Given the description of an element on the screen output the (x, y) to click on. 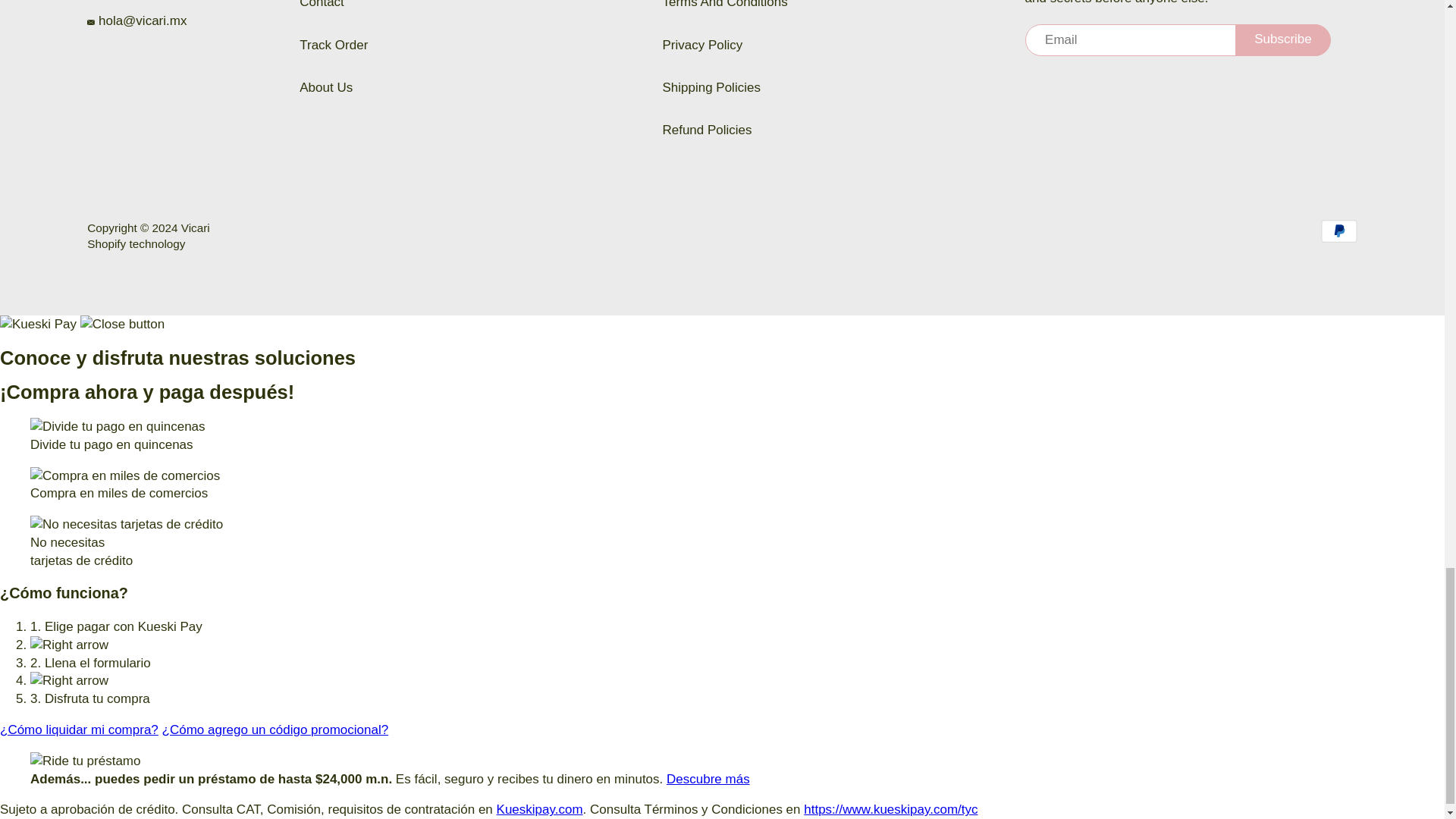
PayPal (1338, 231)
Subscribe (1282, 40)
